Given the description of an element on the screen output the (x, y) to click on. 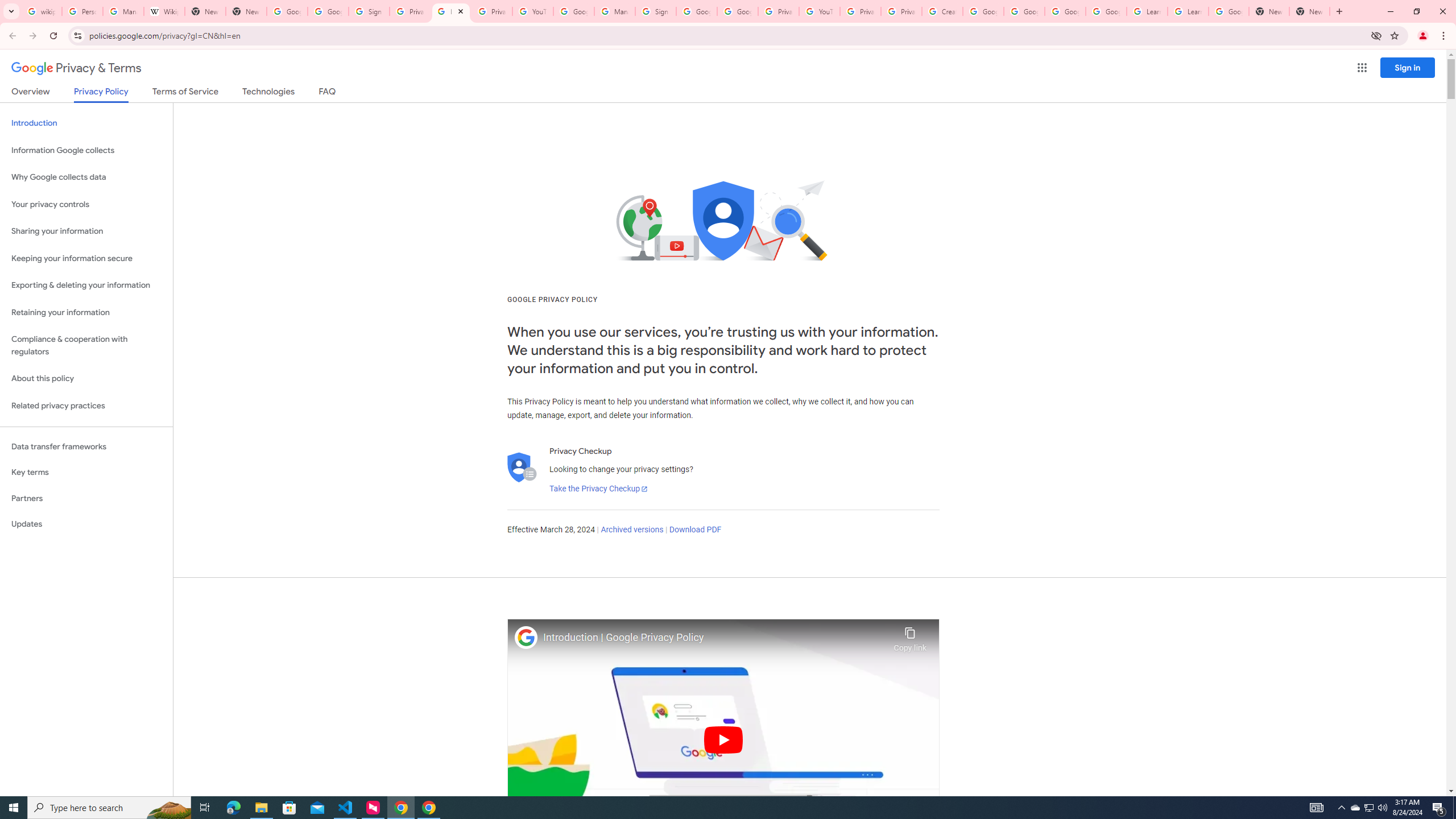
Third-party cookies blocked (1376, 35)
Privacy Policy (100, 94)
Google Account Help (983, 11)
Google Account Help (1105, 11)
